Given the description of an element on the screen output the (x, y) to click on. 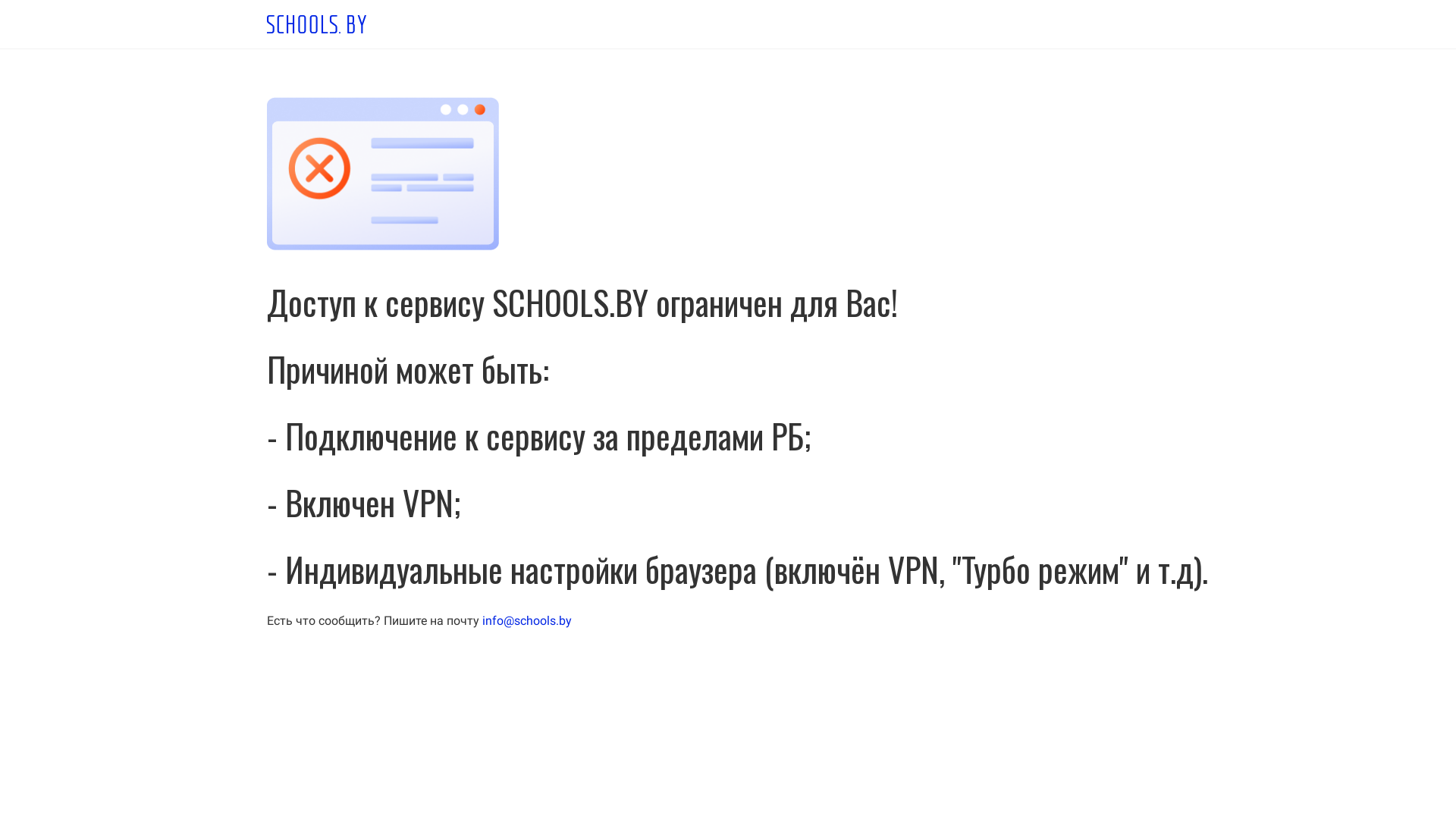
info@schools.by Element type: text (526, 620)
